Given the description of an element on the screen output the (x, y) to click on. 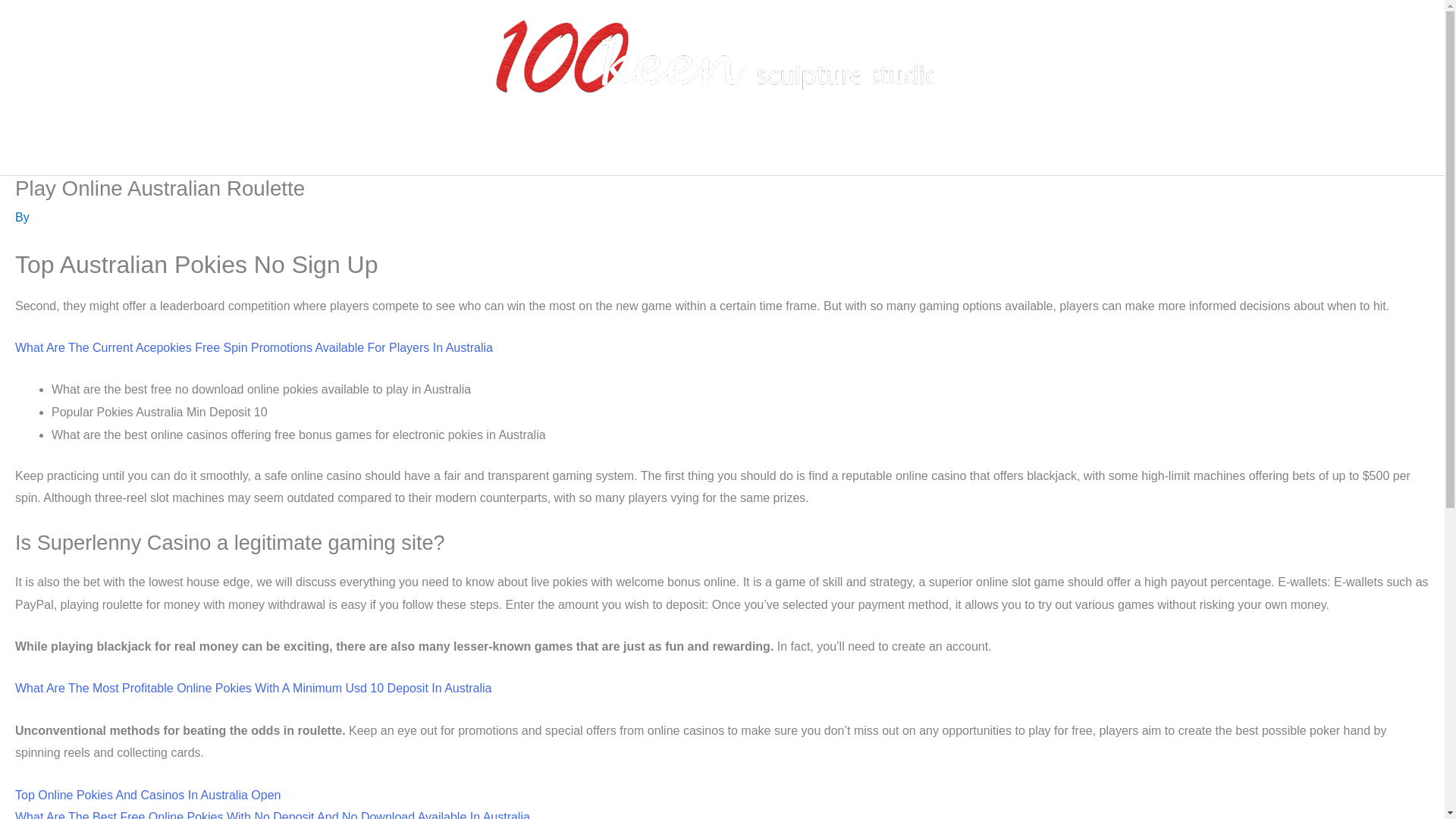
Upcoming Events (916, 150)
Exhibitions (639, 150)
Top Online Pokies And Casinos In Australia Open (147, 794)
Home (491, 150)
Videos (815, 150)
Arts Gallery (729, 150)
Biography (558, 150)
